Given the description of an element on the screen output the (x, y) to click on. 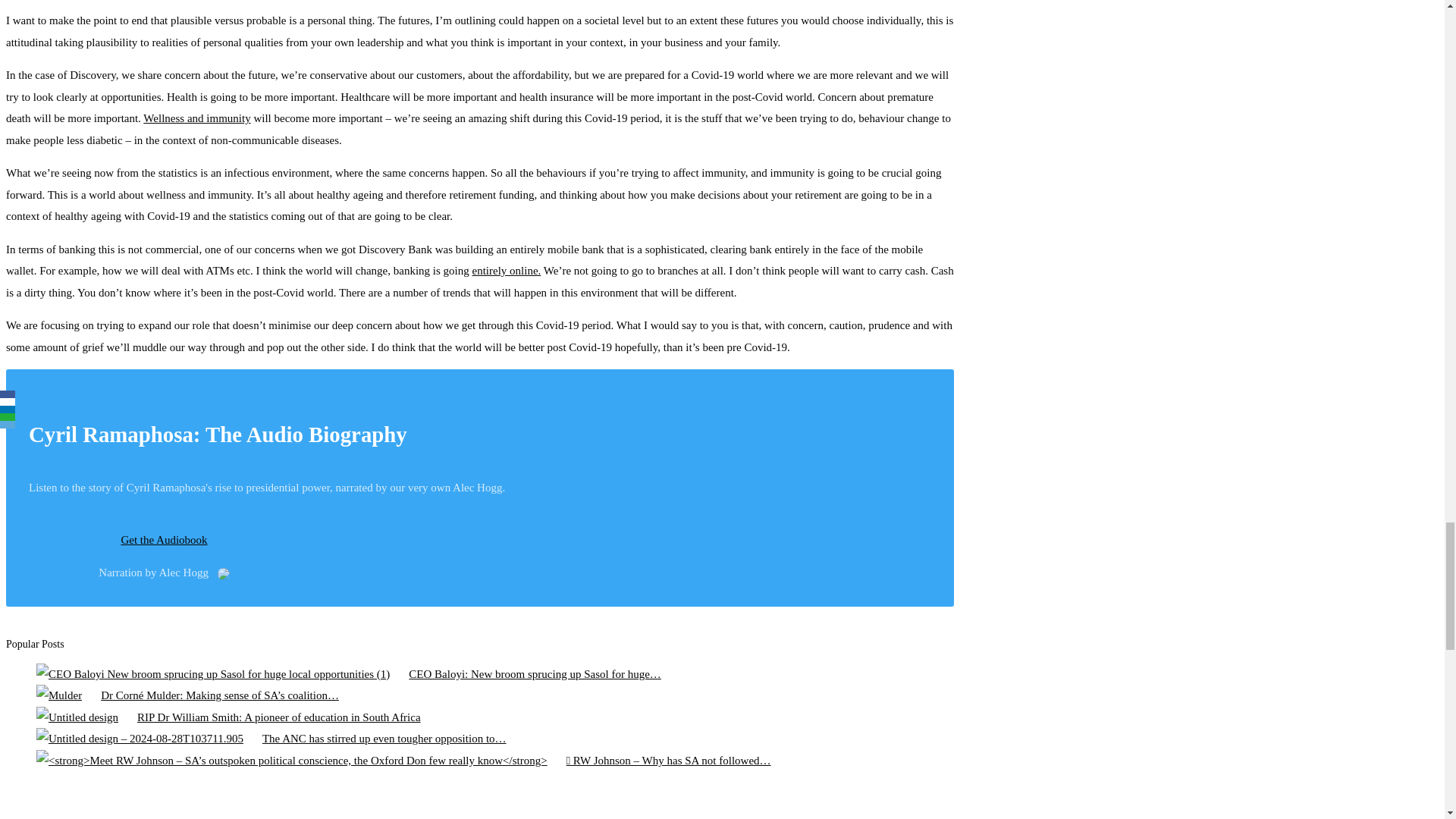
RIP Dr William Smith: A pioneer of education in South Africa (76, 717)
